Given the description of an element on the screen output the (x, y) to click on. 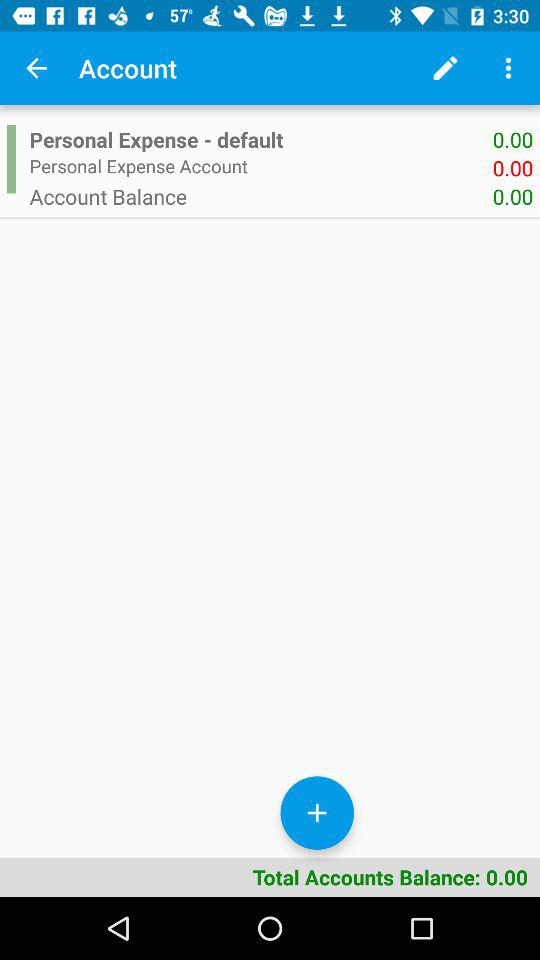
more information (508, 67)
